Given the description of an element on the screen output the (x, y) to click on. 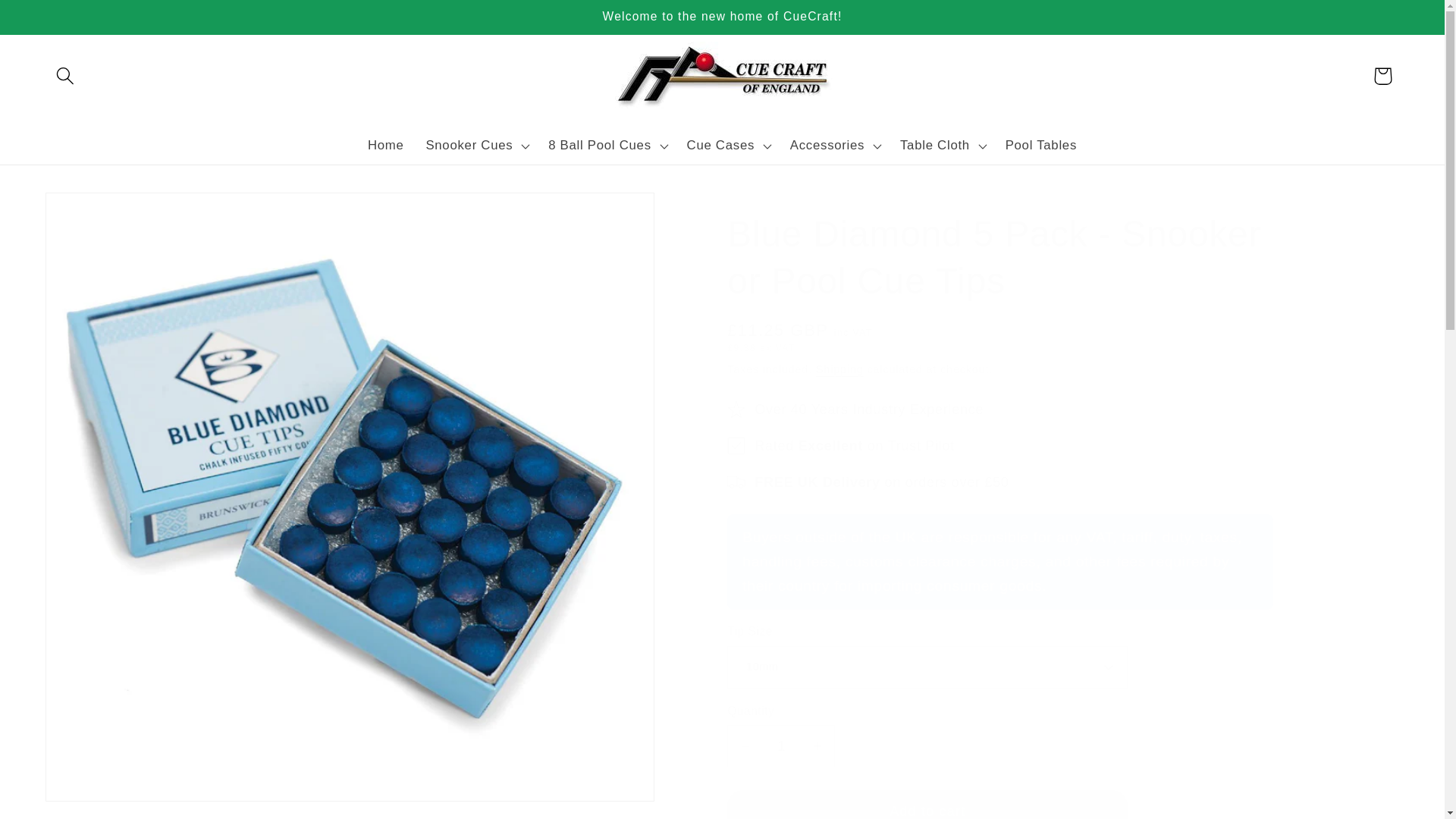
Skip to content (55, 20)
1 (780, 745)
